Given the description of an element on the screen output the (x, y) to click on. 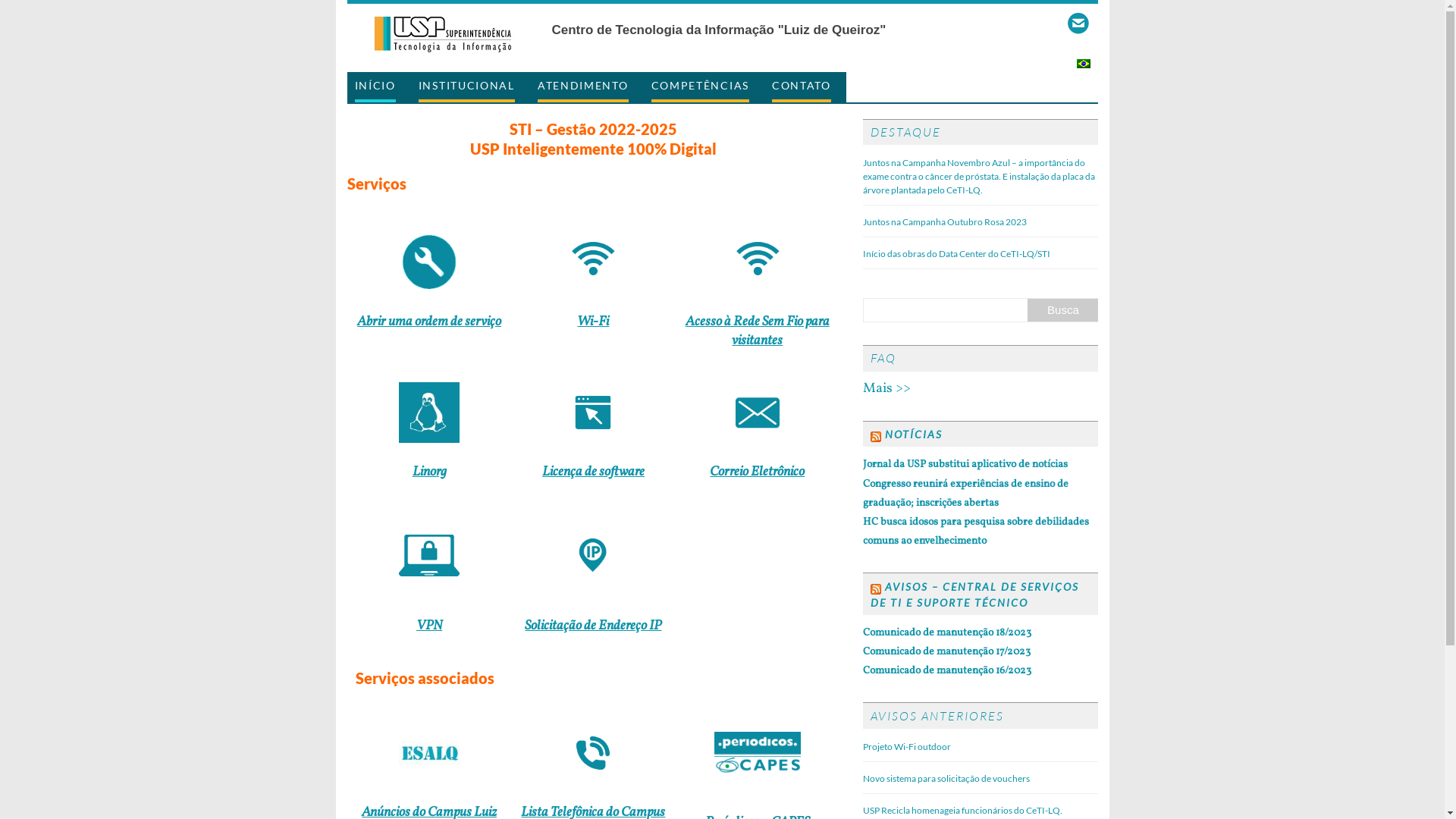
Mais >> Element type: text (886, 388)
CONTATO Element type: text (801, 87)
Wi-Fi Element type: text (592, 321)
Fale conosco Element type: hover (1078, 23)
Linorg Element type: text (429, 471)
INSTITUCIONAL Element type: text (466, 87)
Juntos na Campanha Outubro Rosa 2023 Element type: text (944, 221)
VPN Element type: text (429, 625)
Projeto Wi-Fi outdoor Element type: text (906, 746)
ATENDIMENTO Element type: text (582, 87)
Busca Element type: text (1062, 309)
